Given the description of an element on the screen output the (x, y) to click on. 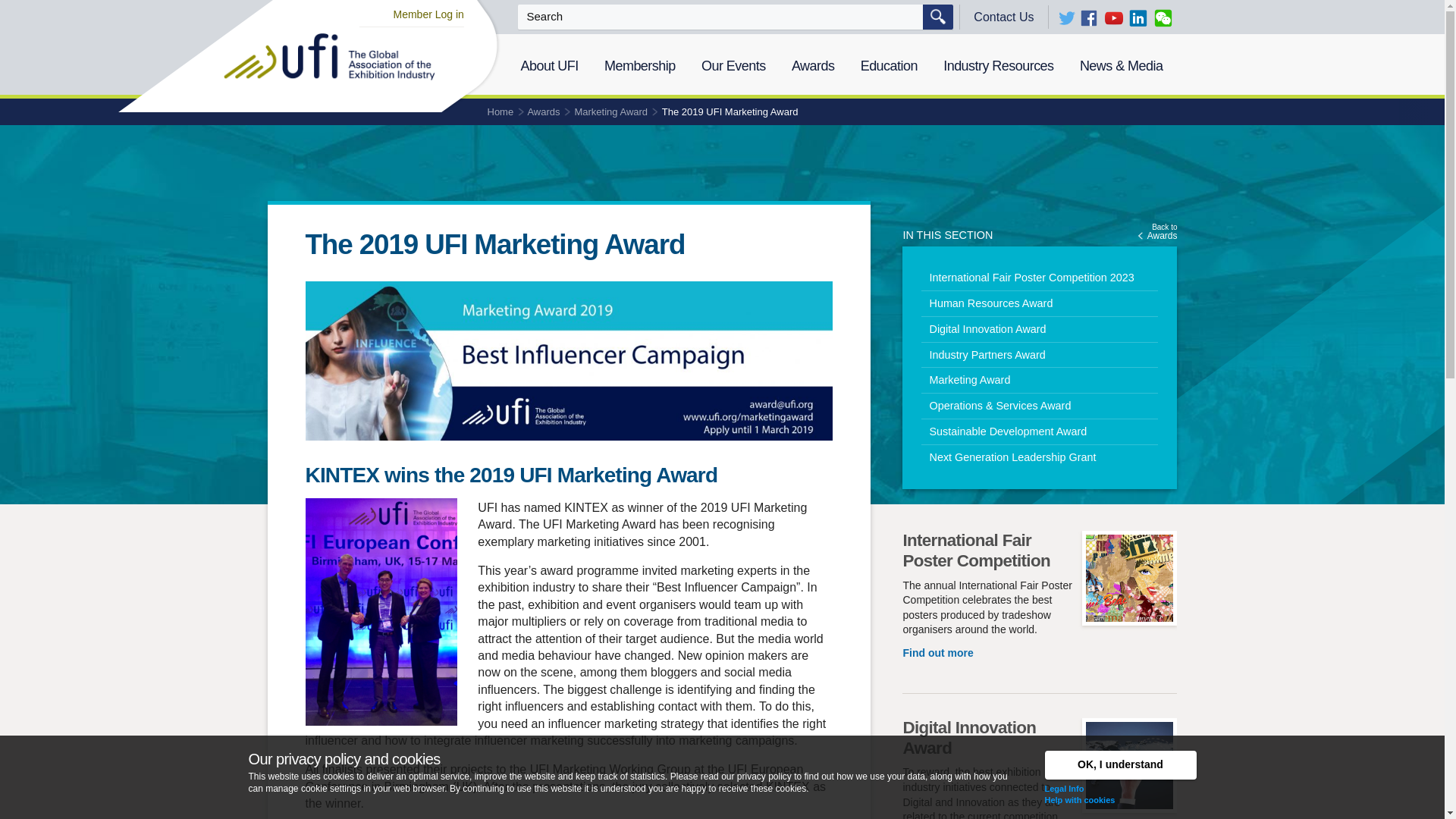
Digital Innovation Award (1039, 329)
Marketing Award (1039, 380)
Help with cookies (1080, 799)
Human Resources Award (1039, 303)
Next Generation Leadership Grant (1039, 457)
Education (888, 66)
Home (499, 111)
YouTube (1113, 17)
LinkedIn (1137, 17)
Contact Us (1003, 16)
Membership (1157, 231)
Twitter (639, 66)
International Fair Poster Competition 2023 (1067, 17)
Industry Partners Award (1039, 277)
